Given the description of an element on the screen output the (x, y) to click on. 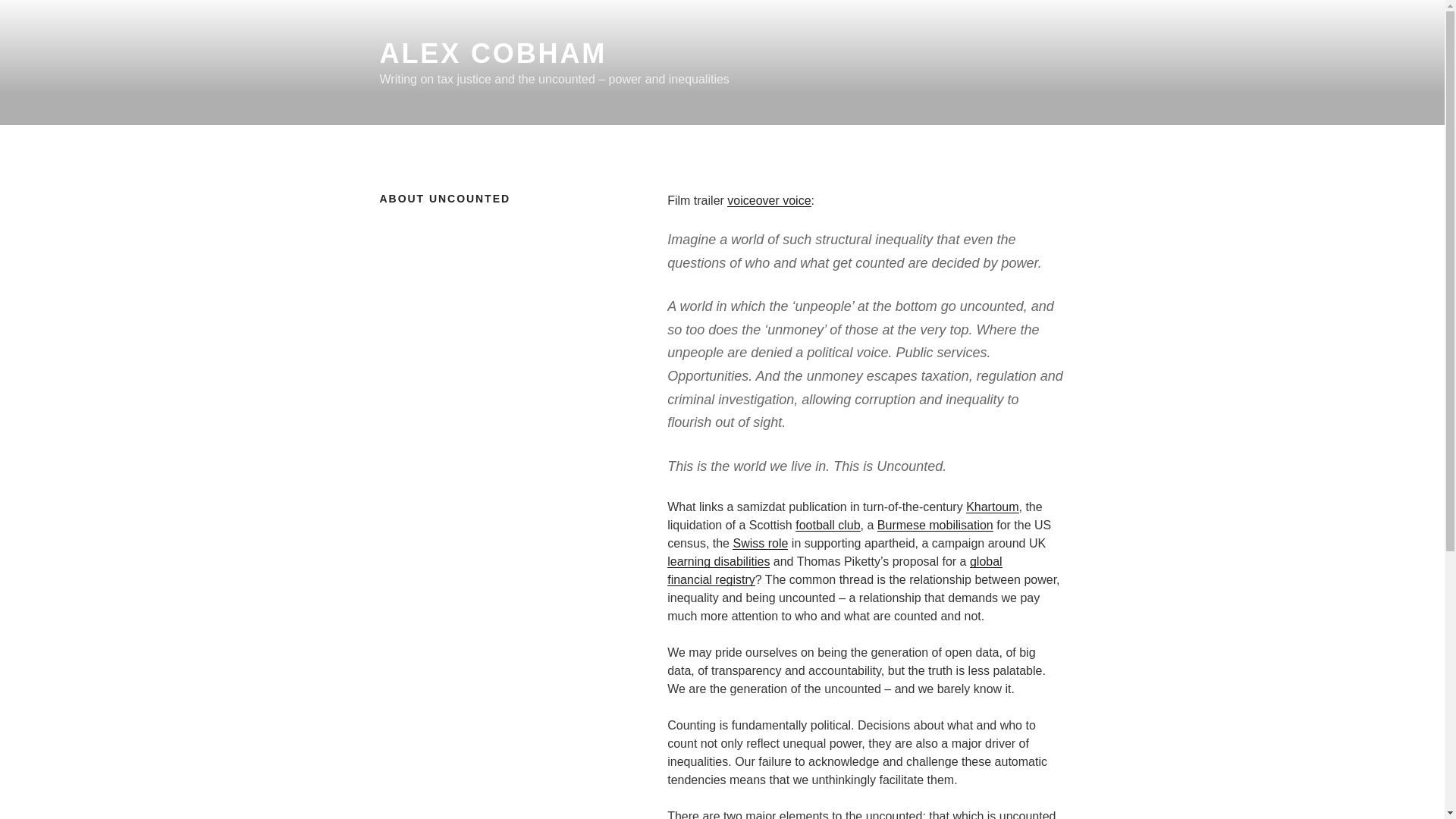
voiceover voice (768, 200)
Don LaFontaine (768, 200)
The Black Book of Sudan (991, 506)
Swiss links to apartheid (759, 543)
football club (827, 524)
Burmese mobilisation (934, 524)
global financial registry (833, 570)
Swiss role (759, 543)
The Burmese Complete Count Committee (934, 524)
ALEX COBHAM (492, 52)
